Given the description of an element on the screen output the (x, y) to click on. 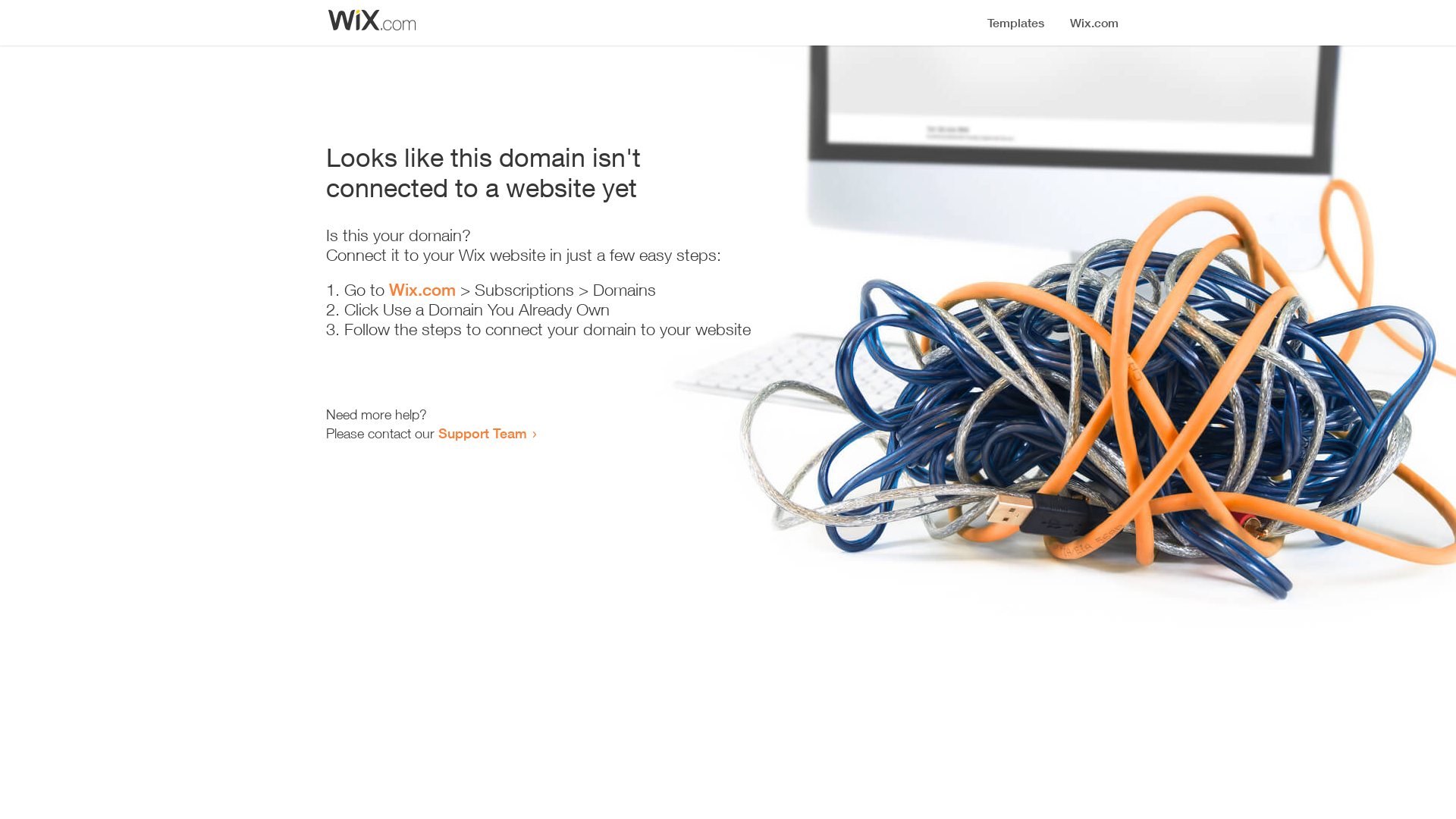
Wix.com Element type: text (422, 289)
Support Team Element type: text (482, 432)
